Given the description of an element on the screen output the (x, y) to click on. 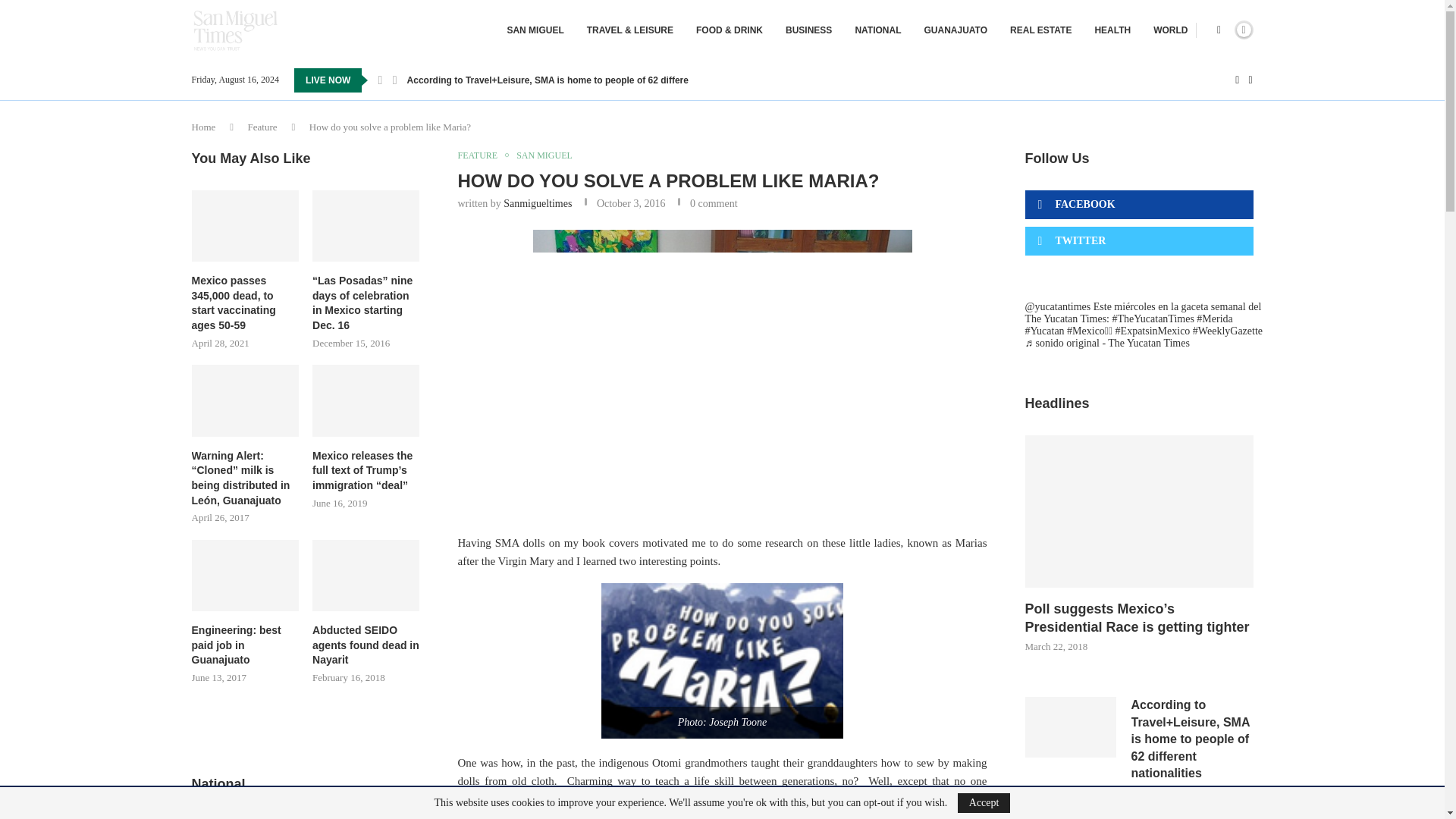
dolls-all-four (721, 372)
REAL ESTATE (1040, 30)
GUANAJUATO (955, 30)
BUSINESS (808, 30)
NATIONAL (877, 30)
SAN MIGUEL (534, 30)
